Given the description of an element on the screen output the (x, y) to click on. 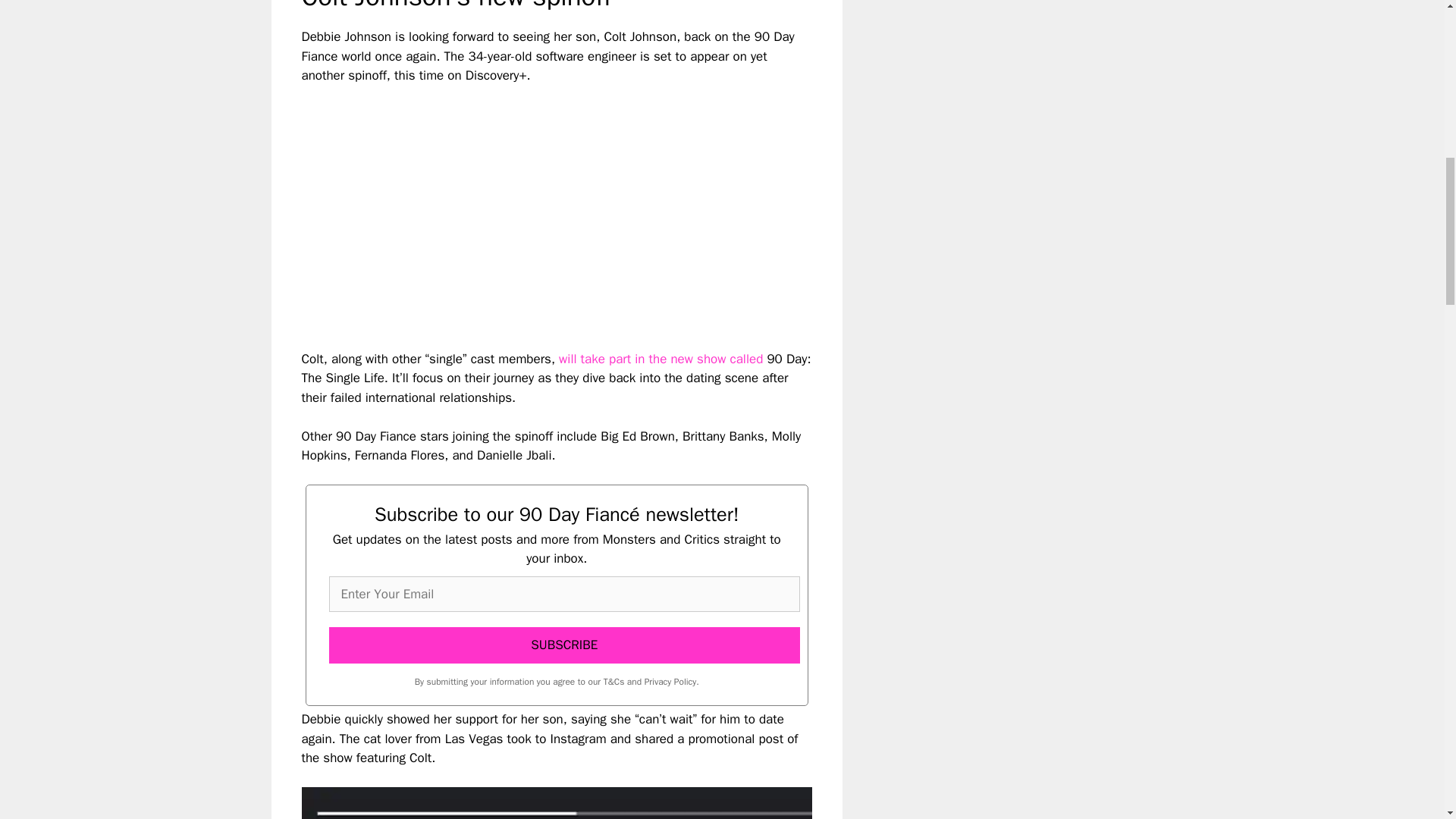
YouTube video player (513, 204)
SUBSCRIBE (564, 645)
SUBSCRIBE (564, 645)
90 Day Fiance: Debbie Johnson - Colt Johnson (556, 803)
will take part in the new show called (660, 358)
